Given the description of an element on the screen output the (x, y) to click on. 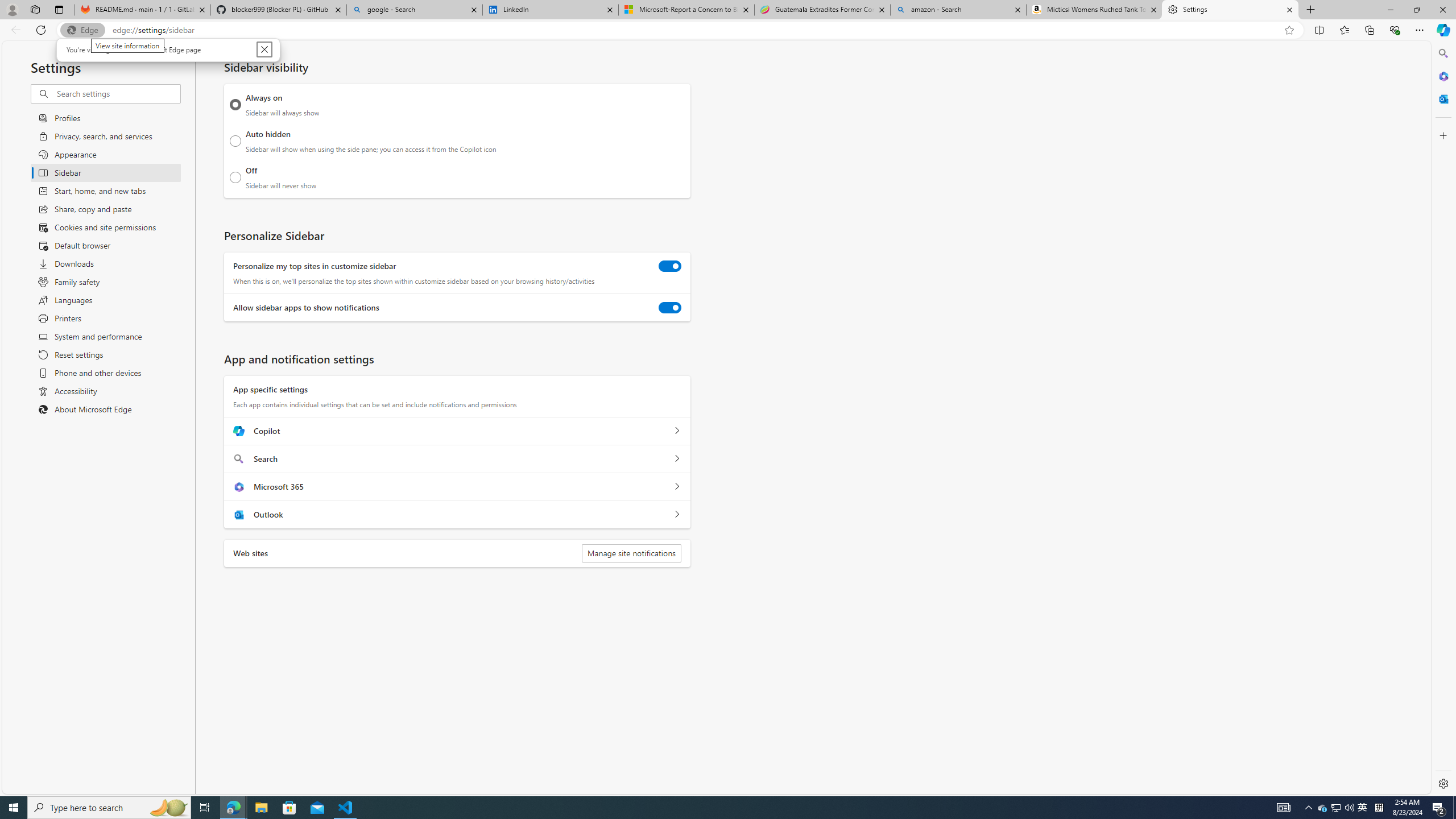
File Explorer (261, 807)
Q2790: 100% (1349, 807)
amazon - Search (957, 9)
Allow sidebar apps to show notifications (669, 307)
Task View (204, 807)
Running applications (700, 807)
Notification Chevron (1308, 807)
Show desktop (1454, 807)
